Given the description of an element on the screen output the (x, y) to click on. 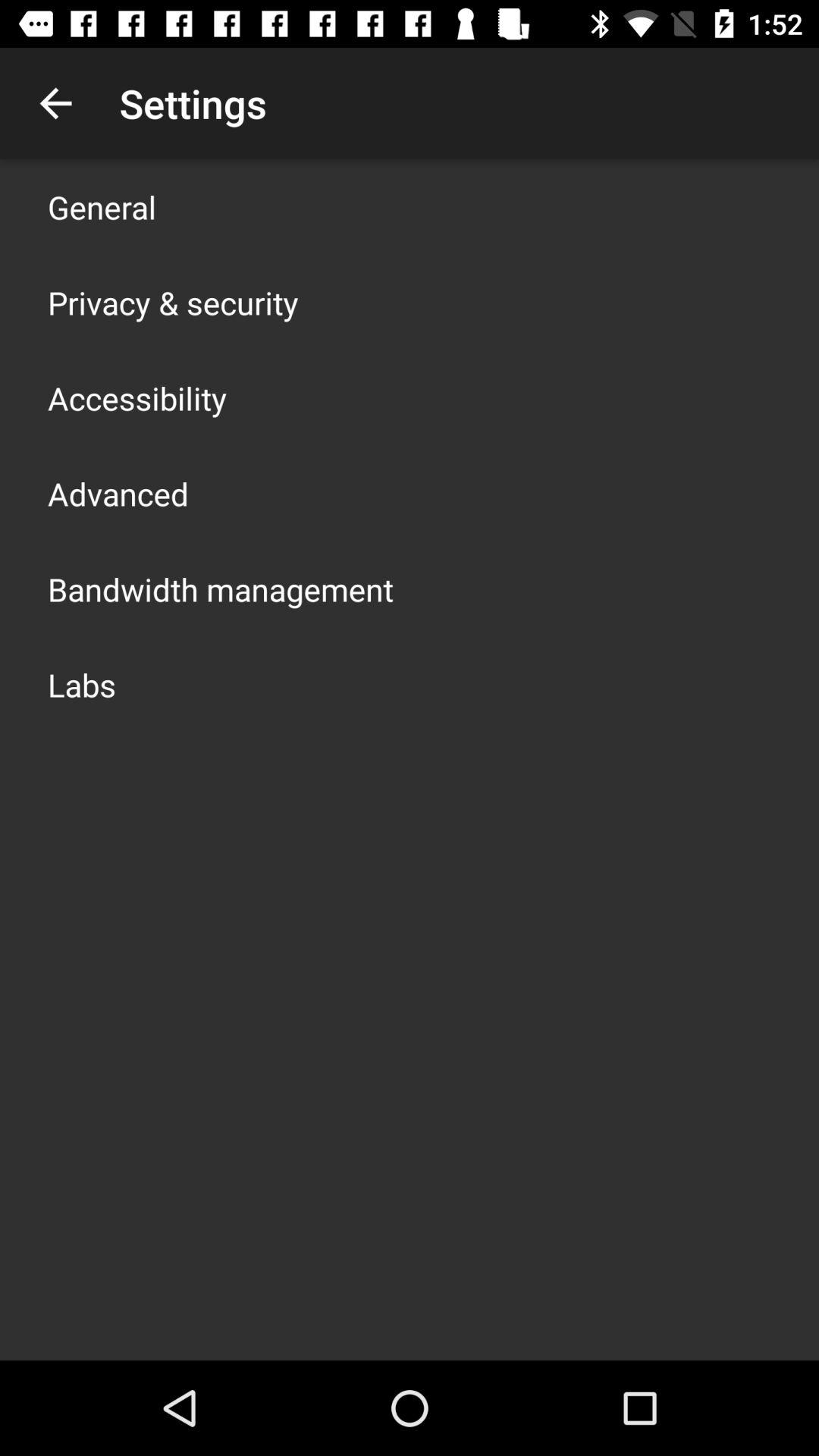
tap privacy & security icon (172, 302)
